Given the description of an element on the screen output the (x, y) to click on. 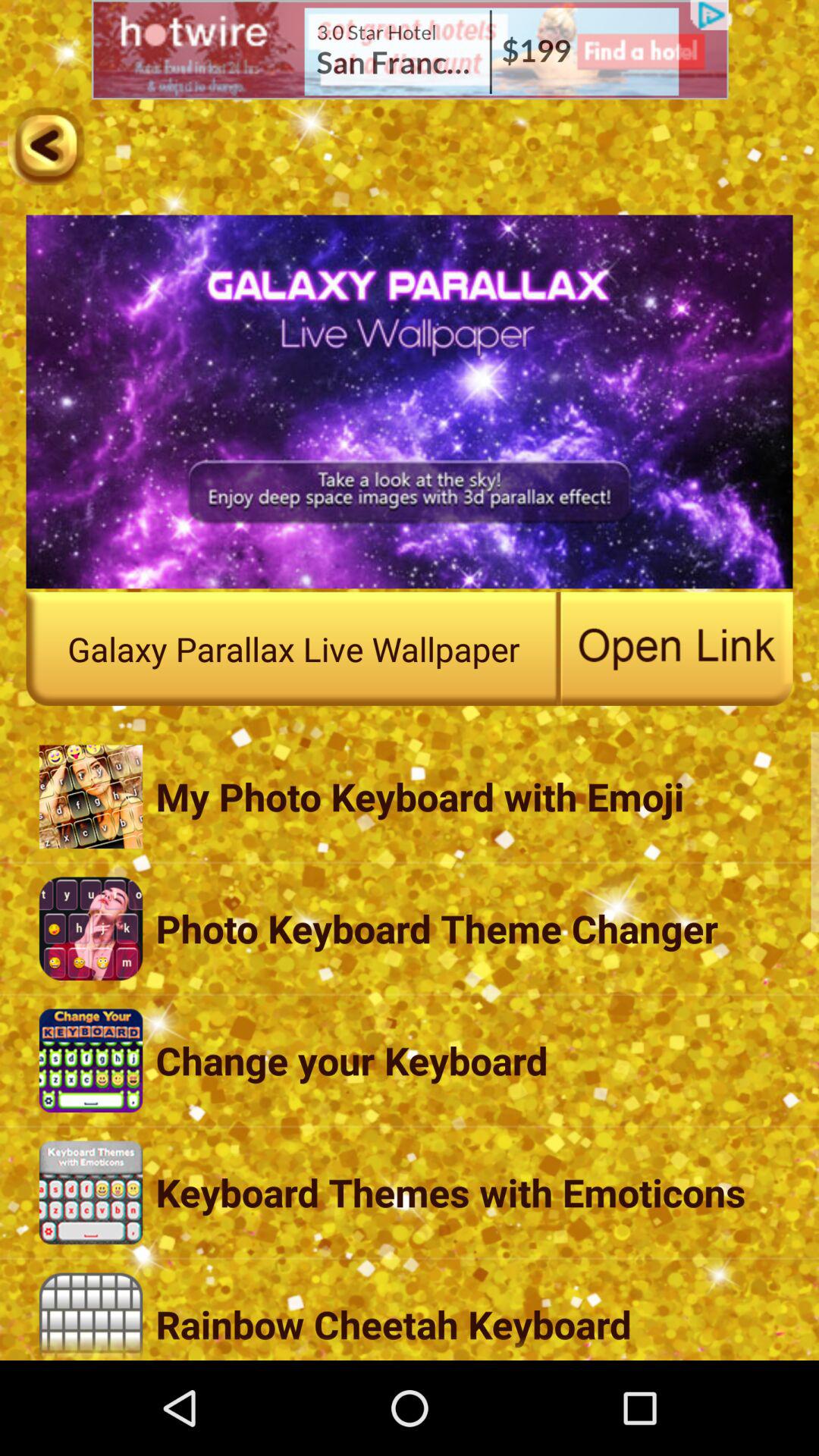
advertising space (409, 49)
